Given the description of an element on the screen output the (x, y) to click on. 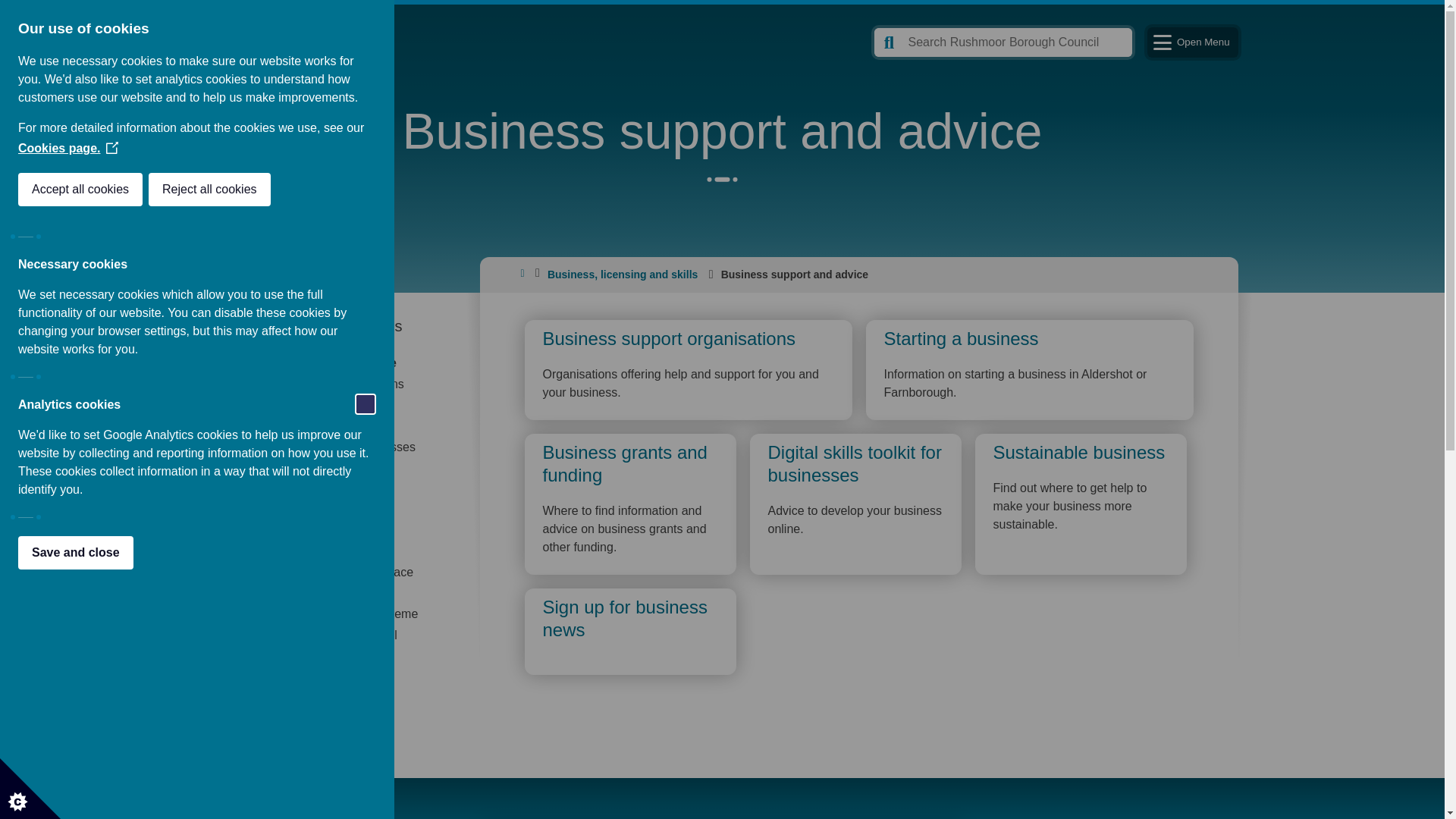
Reject all cookies (69, 189)
Search (1002, 41)
Open Menu (1192, 42)
